Given the description of an element on the screen output the (x, y) to click on. 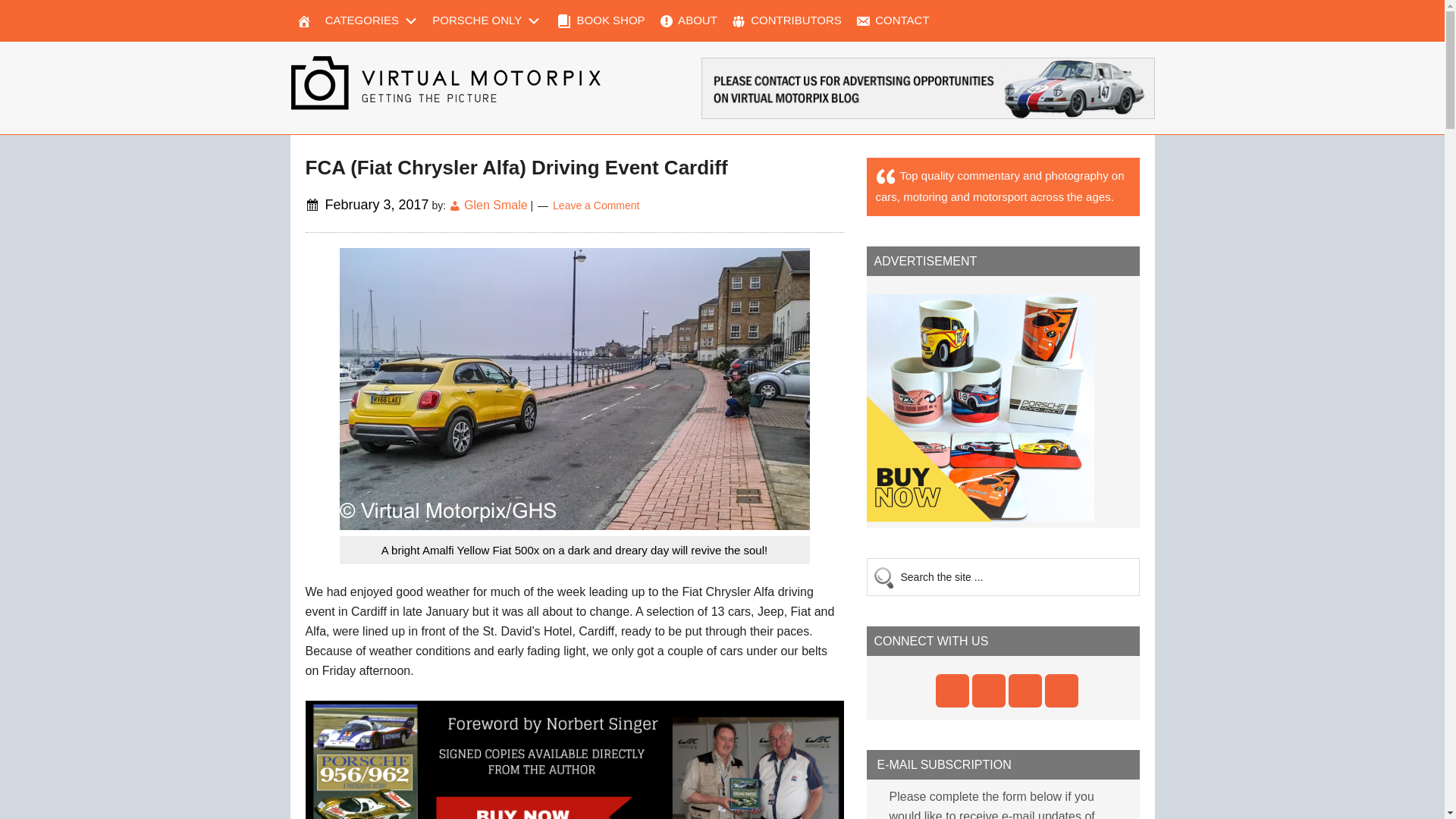
CATEGORIES (372, 20)
Amalfi Yellow Fiat 500x (574, 388)
BOOK SHOP (599, 20)
ABOUT (687, 20)
CONTRIBUTORS (785, 20)
PORSCHE ONLY (487, 20)
